Given the description of an element on the screen output the (x, y) to click on. 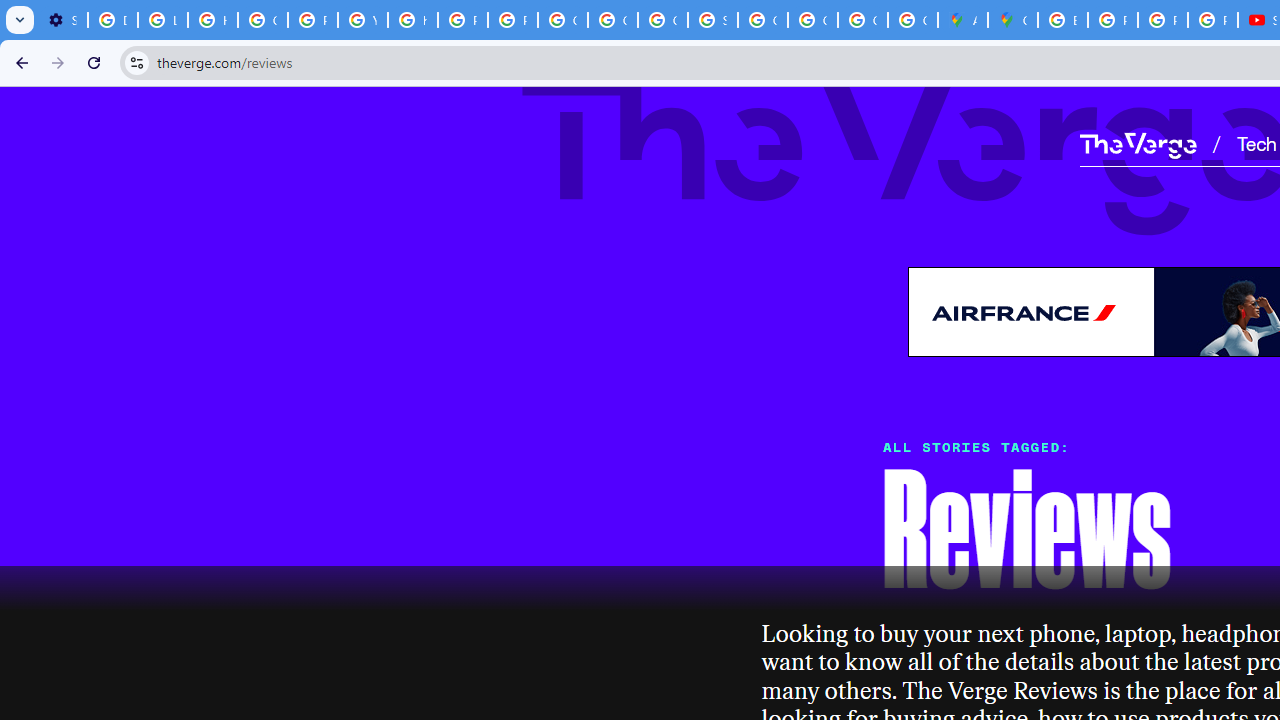
The Verge (1137, 145)
Delete photos & videos - Computer - Google Photos Help (113, 20)
